Given the description of an element on the screen output the (x, y) to click on. 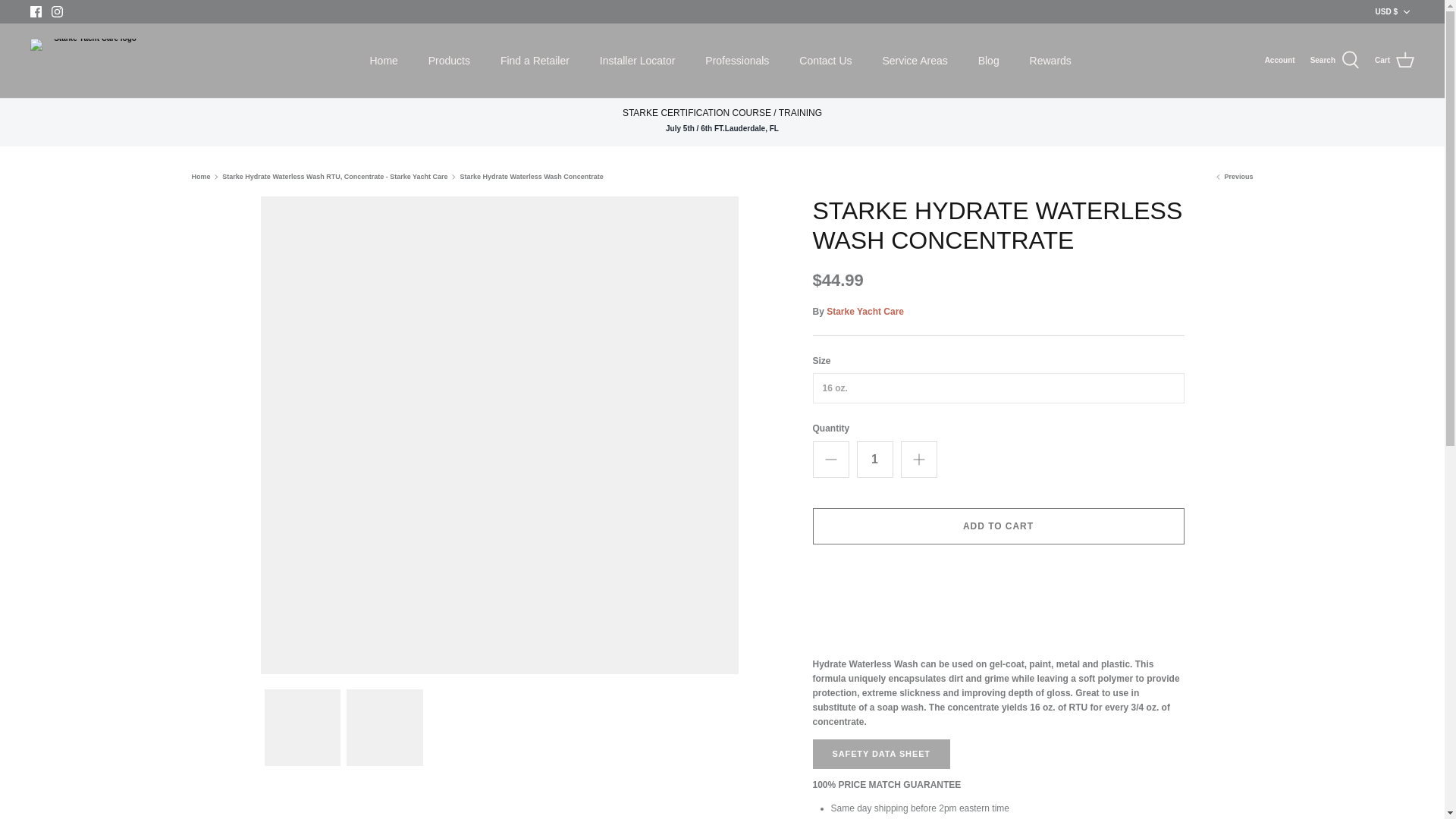
Instagram (56, 11)
Down (1406, 11)
Starke Hydrate Waterless Wash RTU (1233, 176)
Plus (919, 459)
Instagram (56, 11)
Minus (831, 459)
Facebook (36, 11)
Starke Yacht Care (89, 60)
Facebook (36, 11)
1 (875, 459)
